Given the description of an element on the screen output the (x, y) to click on. 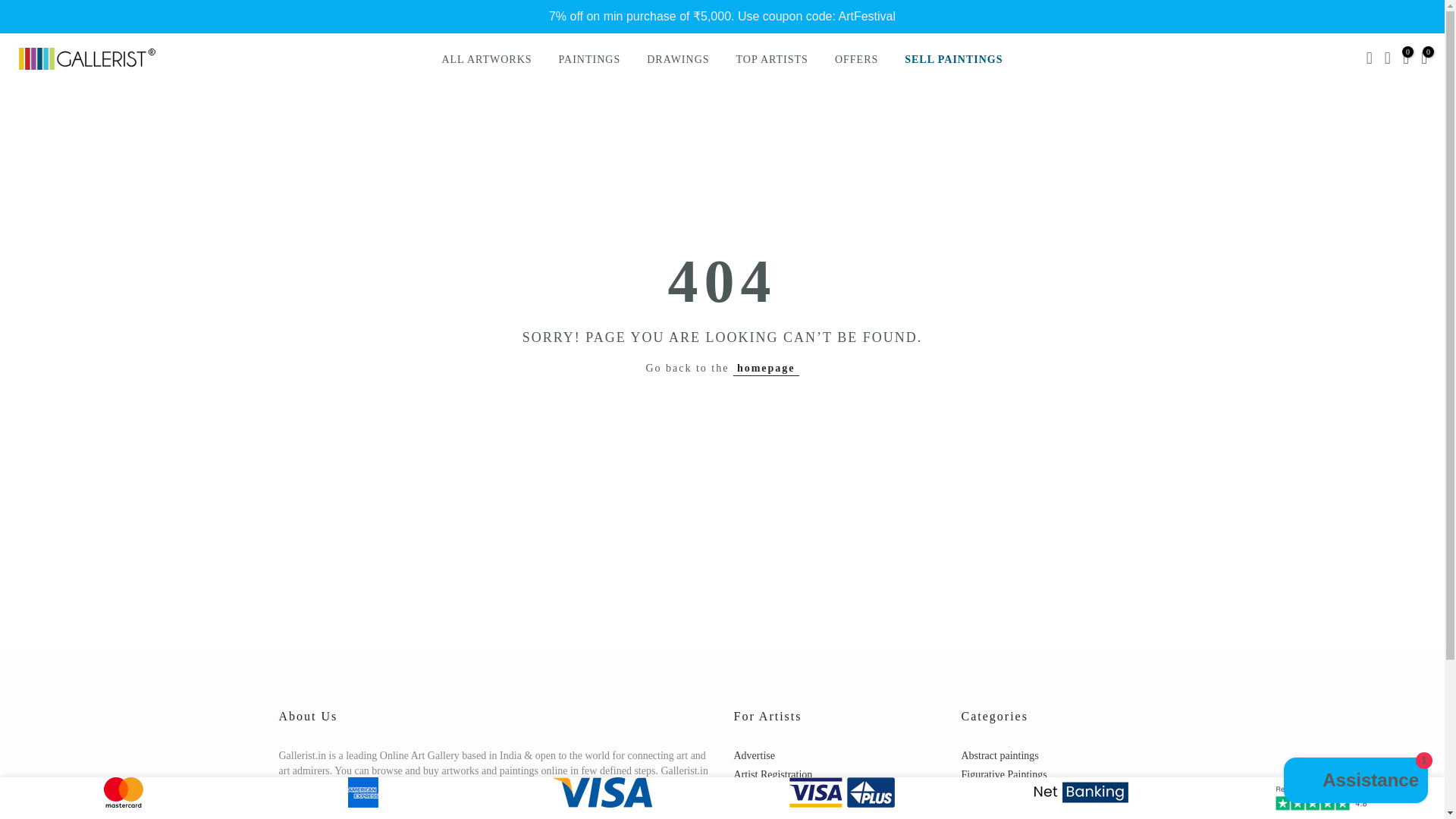
ALL ARTWORKS (486, 59)
Shopify online store chat (1355, 781)
PAINTINGS (588, 59)
